Given the description of an element on the screen output the (x, y) to click on. 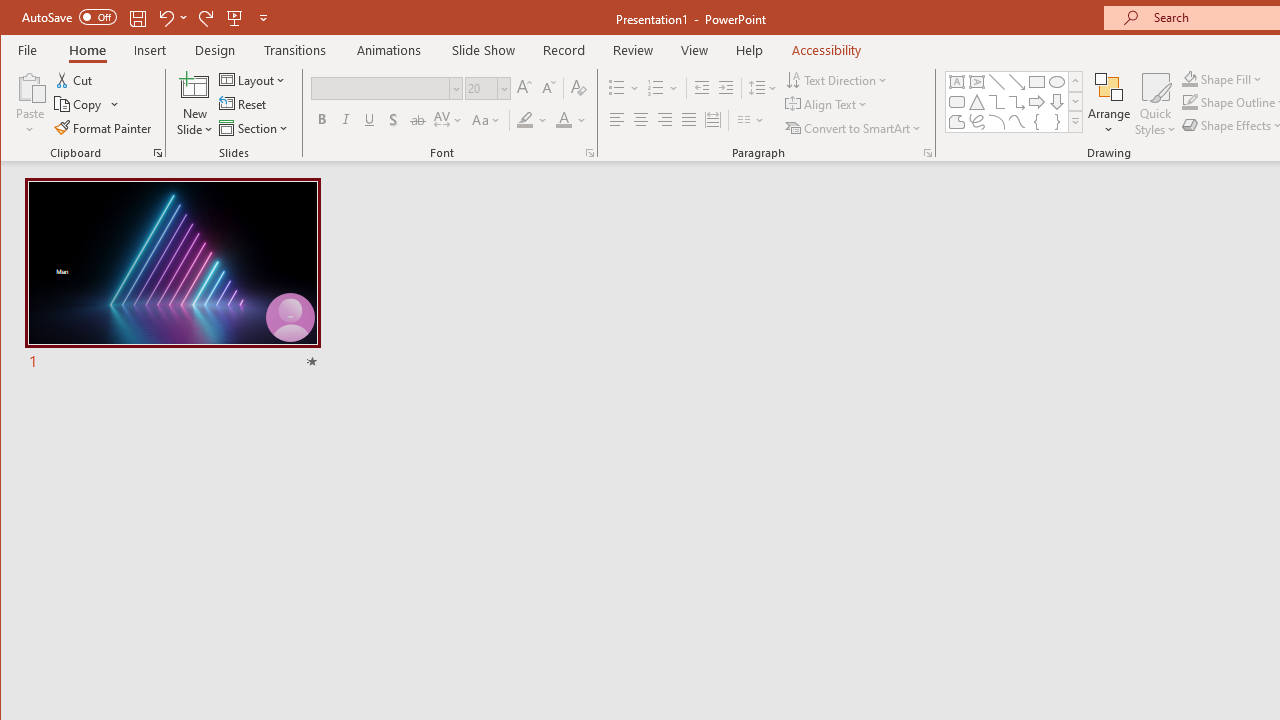
Vertical Text Box (976, 82)
Font... (589, 152)
Paragraph... (927, 152)
Align Right (664, 119)
